Given the description of an element on the screen output the (x, y) to click on. 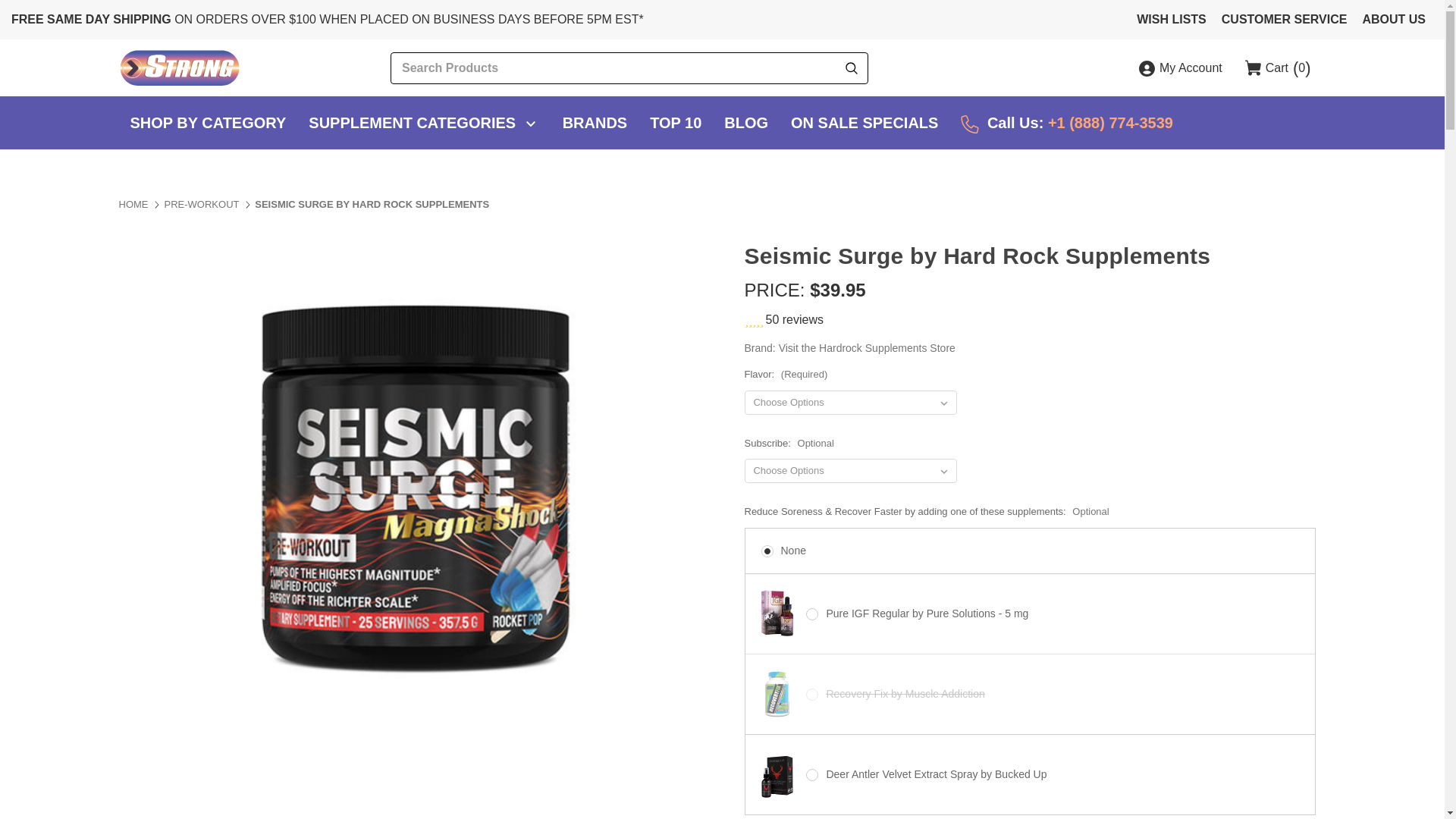
Search (850, 68)
CUSTOMER SERVICE (1284, 19)
Strong Supplement Shop (178, 67)
ABOUT US (1393, 19)
WISH LISTS (1171, 19)
My Account (1180, 68)
